Given the description of an element on the screen output the (x, y) to click on. 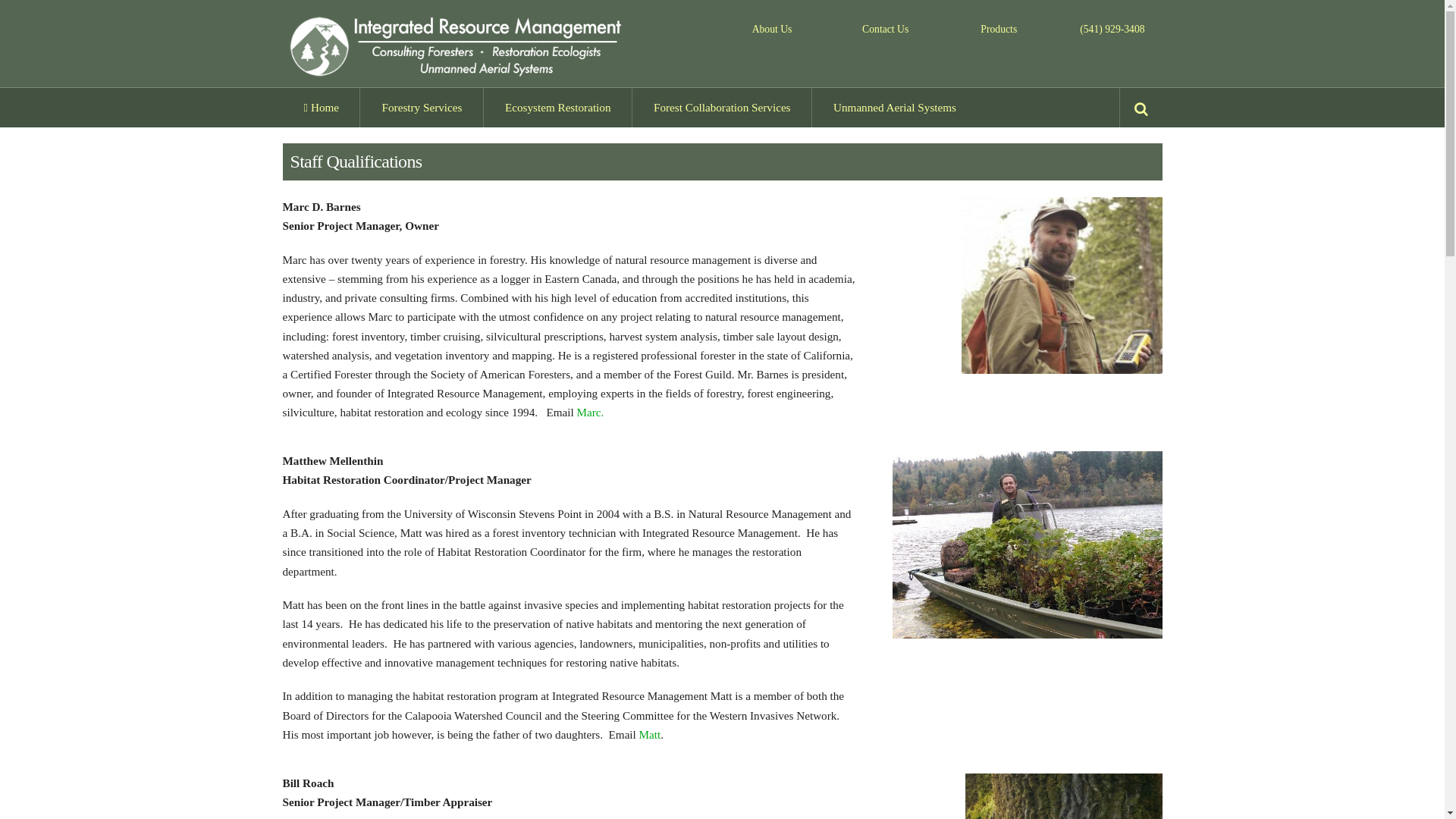
Forestry Services (420, 107)
Integrated Resource Management (457, 45)
Home (320, 107)
Integrated Resource Management (457, 73)
Ecosystem Restoration (557, 107)
